Given the description of an element on the screen output the (x, y) to click on. 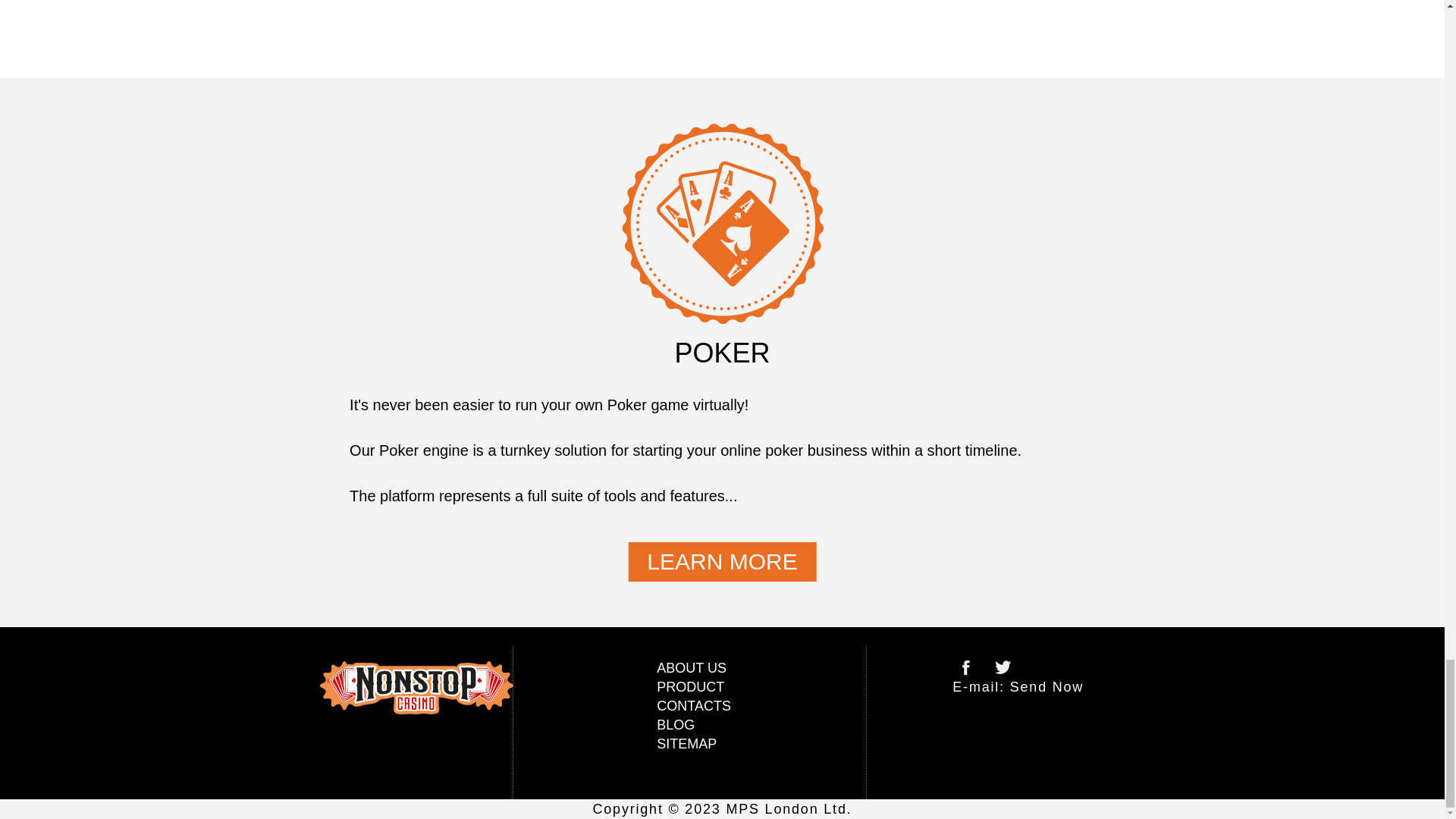
CONTACTS (693, 705)
Twitter (1002, 667)
PRODUCT (689, 686)
ABOUT US (691, 667)
LEARN MORE (721, 561)
BLOG (675, 724)
Facebook (965, 667)
Send Now (1046, 686)
SITEMAP (686, 743)
